Given the description of an element on the screen output the (x, y) to click on. 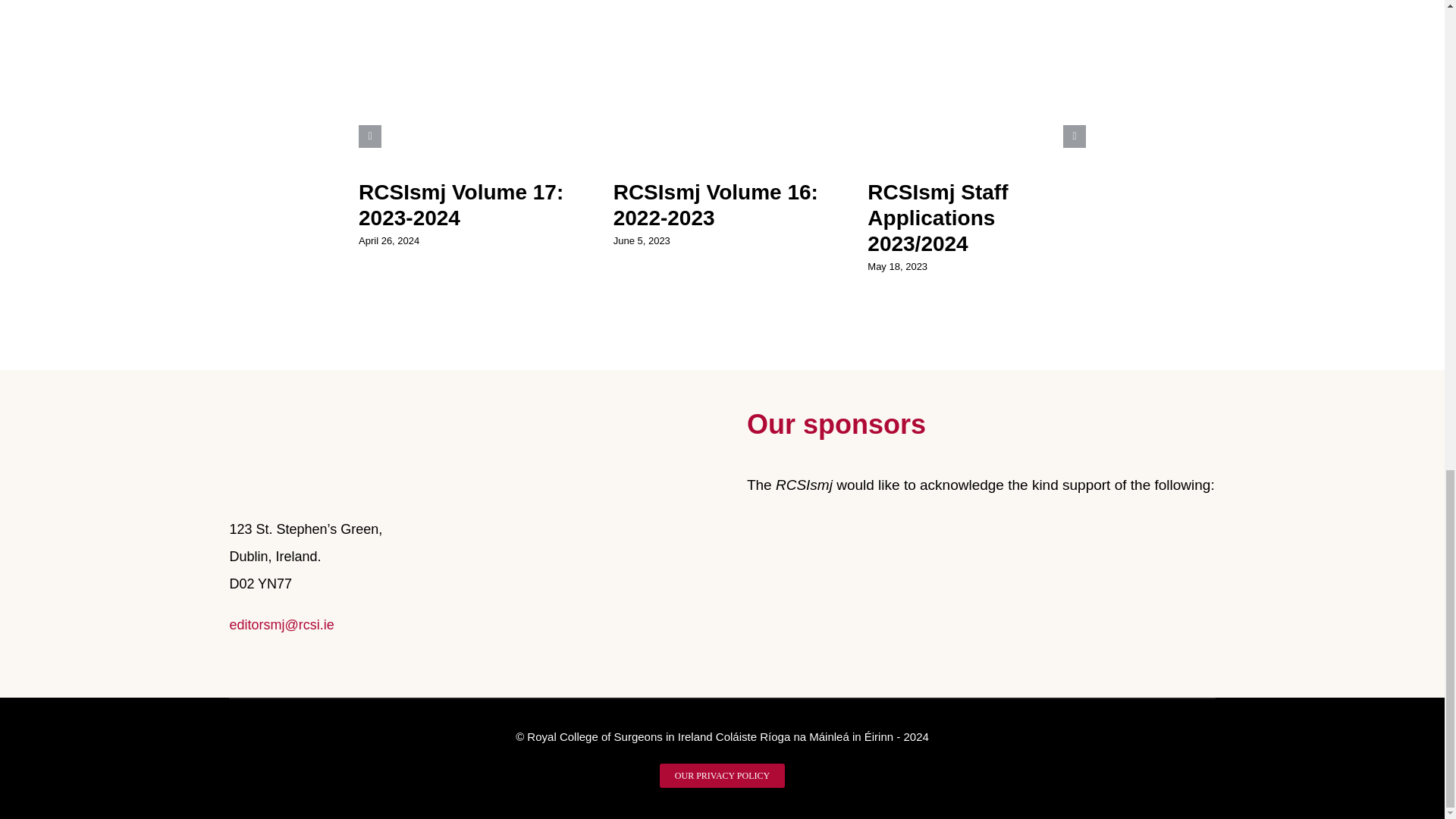
RCSIsmj Volume 17: 2023-2024 (460, 205)
SupportersLogos (980, 546)
RCSIsmj Volume 17: 2023-2024 (460, 205)
RCSIsmj Volume 16: 2022-2023 (715, 205)
